Given the description of an element on the screen output the (x, y) to click on. 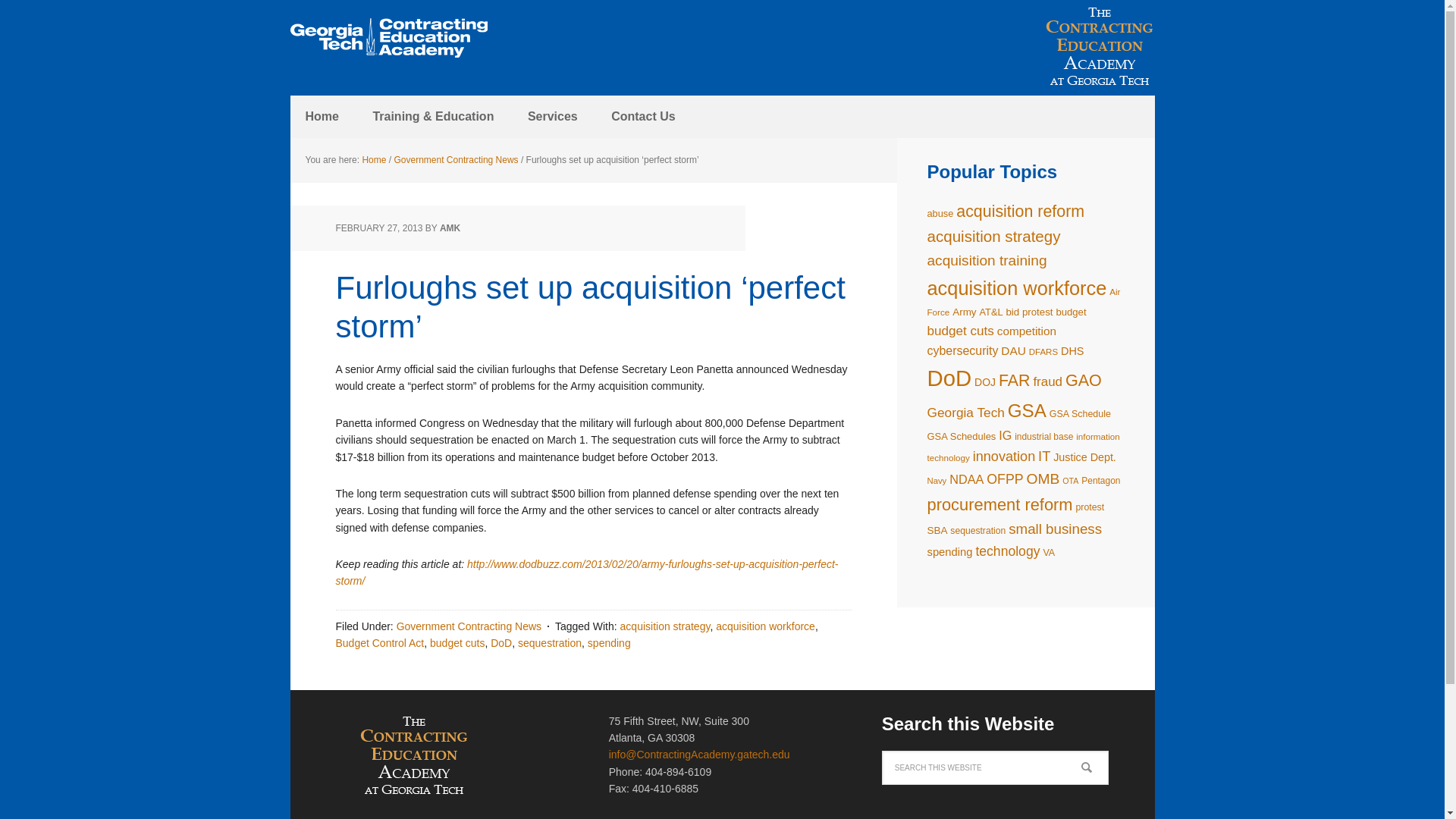
competition (1027, 330)
DFARS (1043, 351)
acquisition strategy (992, 235)
acquisition training (986, 260)
Government Contracting News (468, 625)
Services (552, 116)
acquisition workforce (765, 625)
abuse (939, 213)
budget cuts (456, 643)
Government Contracting News (456, 159)
DHS (1072, 350)
The Contracting Education Academy (387, 38)
Georgia Tech (965, 412)
GSA (1026, 410)
Budget Control Act (378, 643)
